Given the description of an element on the screen output the (x, y) to click on. 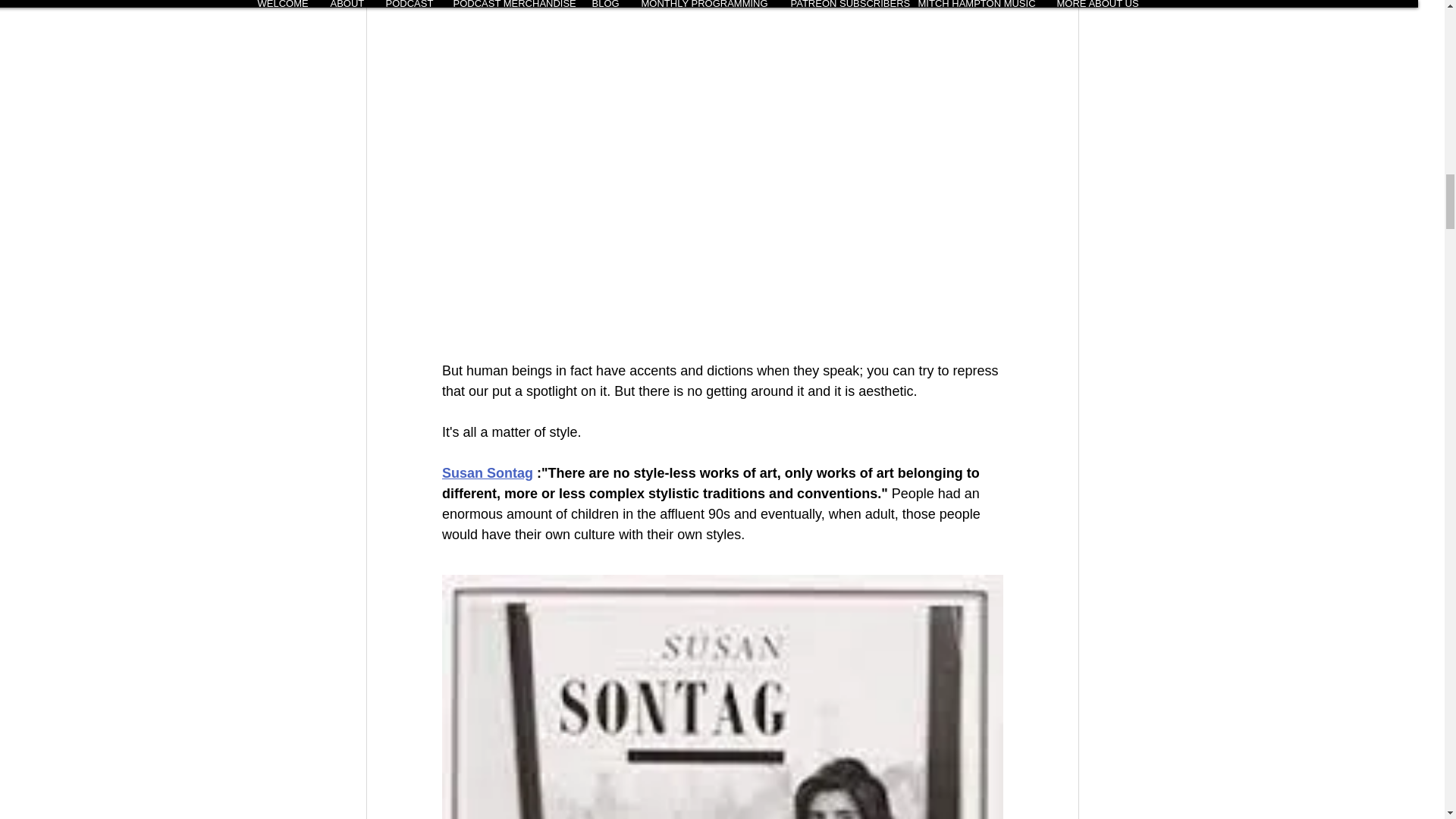
Susan Sontag (486, 473)
ricos-video (722, 79)
